Given the description of an element on the screen output the (x, y) to click on. 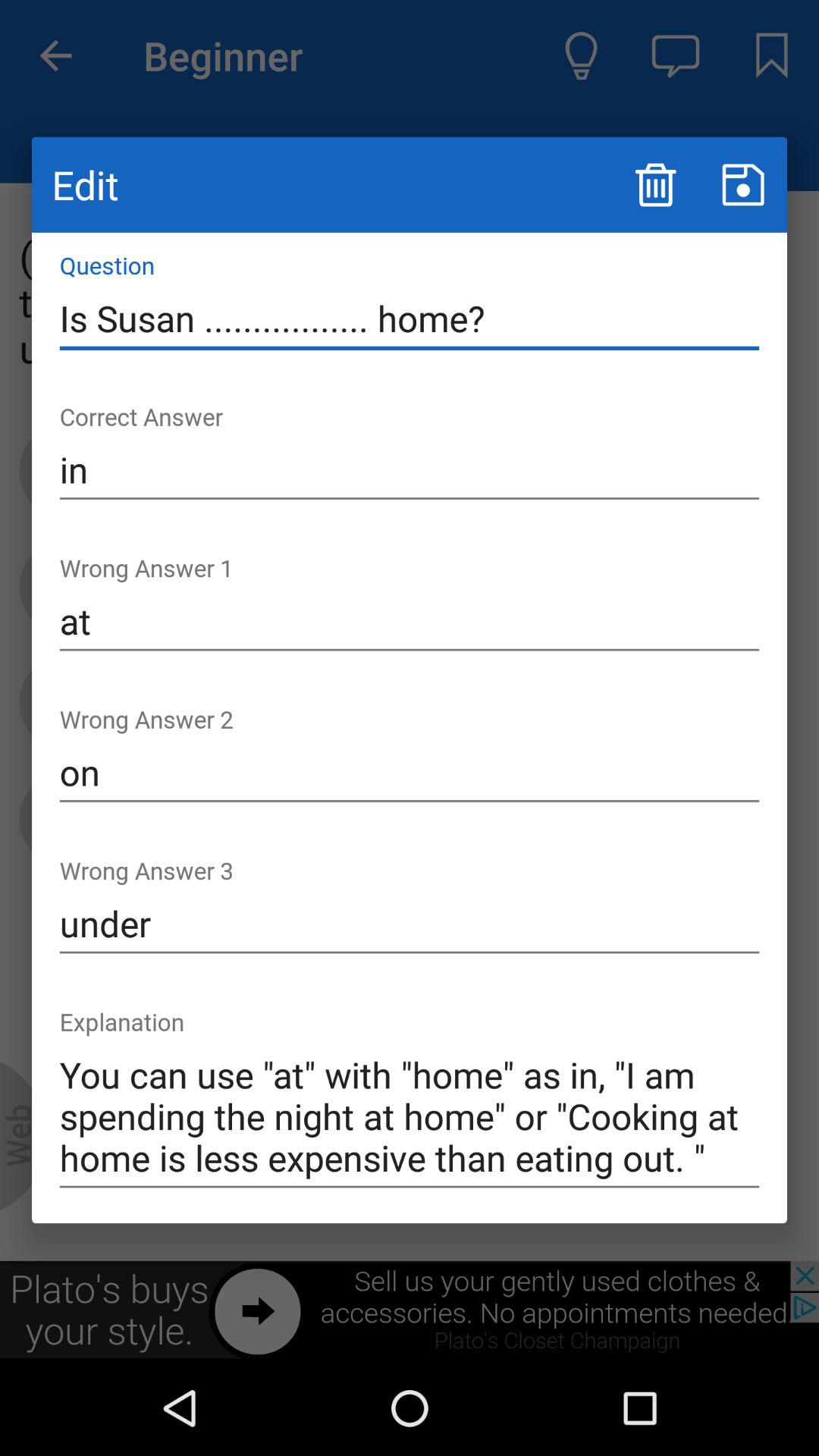
turn on the item to the right of the edit item (655, 184)
